Given the description of an element on the screen output the (x, y) to click on. 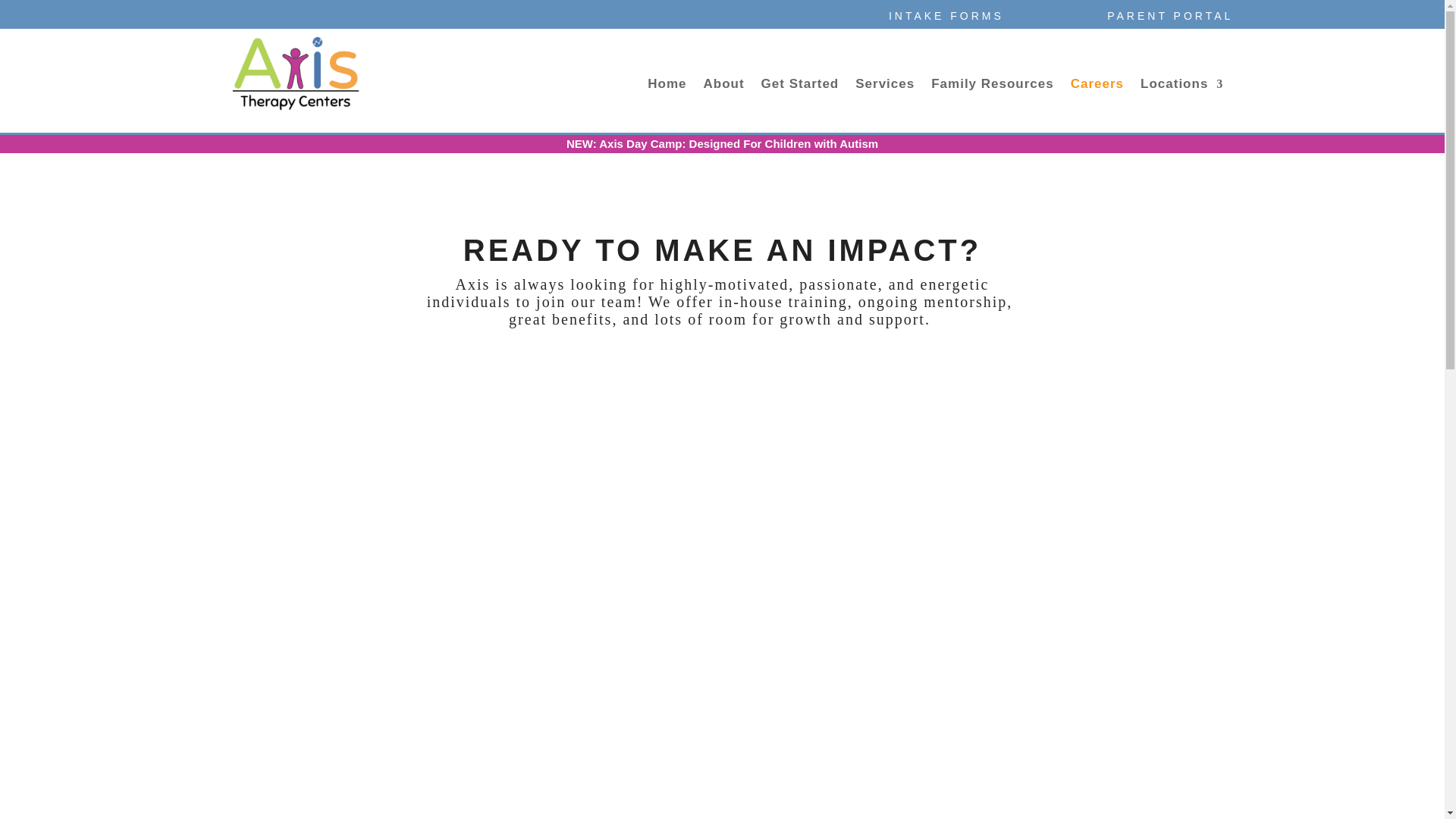
INTAKE FORMS (945, 16)
Services (885, 86)
Locations (1181, 86)
Home (666, 86)
Get Started (800, 86)
Careers (1097, 86)
PARENT PORTAL (1169, 16)
Family Resources (992, 86)
About (723, 86)
